Given the description of an element on the screen output the (x, y) to click on. 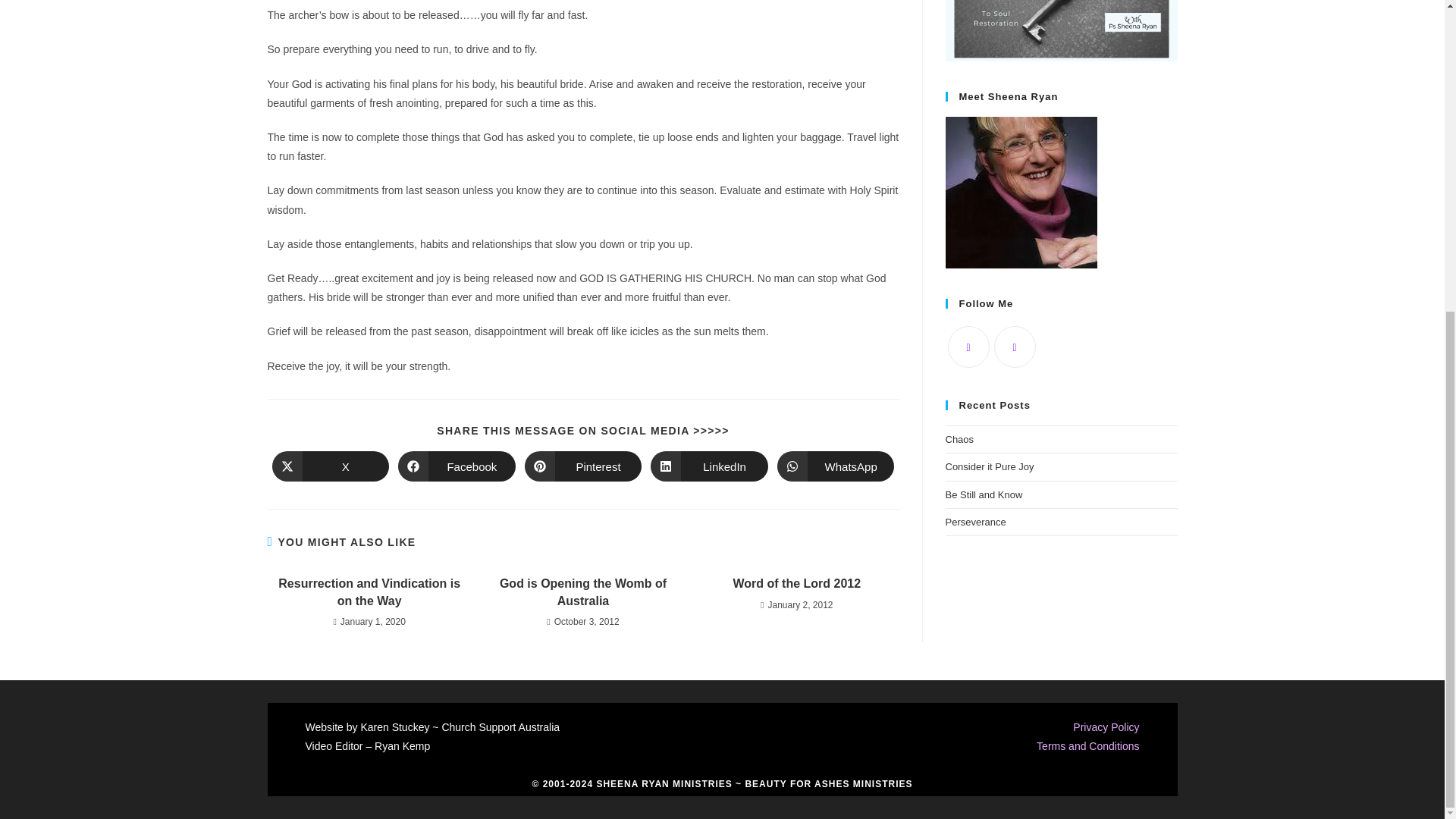
LinkedIn (709, 466)
WhatsApp (836, 466)
X (329, 466)
Facebook (456, 466)
Pinterest (583, 466)
